Given the description of an element on the screen output the (x, y) to click on. 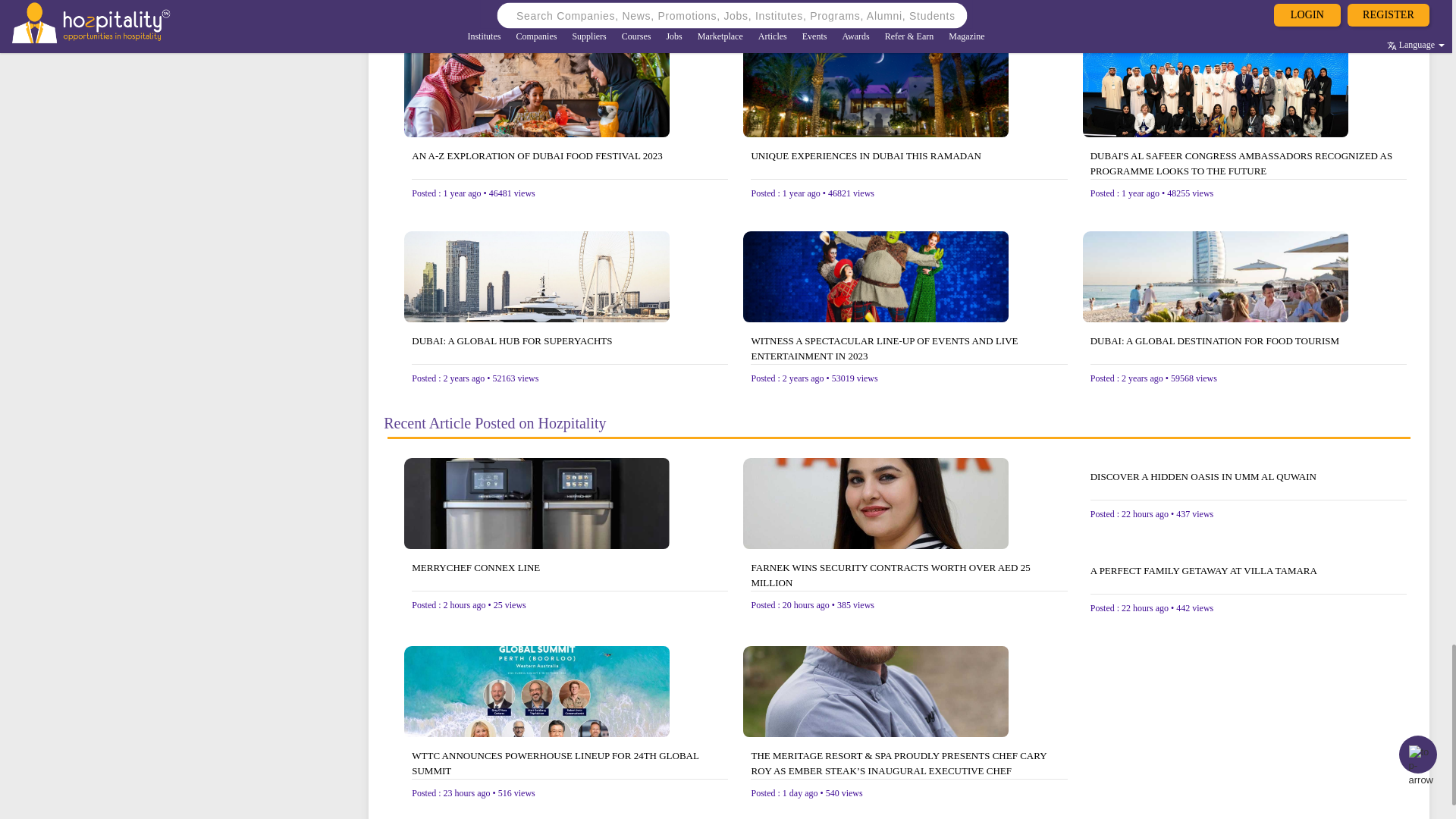
Dubai: A Global Destination for Food Tourism (1248, 348)
An A-Z Exploration of Dubai Food Festival 2023 (570, 163)
Dubai: A Global Hub for Superyachts (570, 348)
Farnek Wins Security Contracts Worth Over AED 25 Million (909, 575)
Unique Experiences in Dubai this Ramadan (909, 163)
MERRYCHEF CONNEX LINE (570, 575)
Discover a Hidden Oasis in Umm Al Quwain (1248, 484)
